Given the description of an element on the screen output the (x, y) to click on. 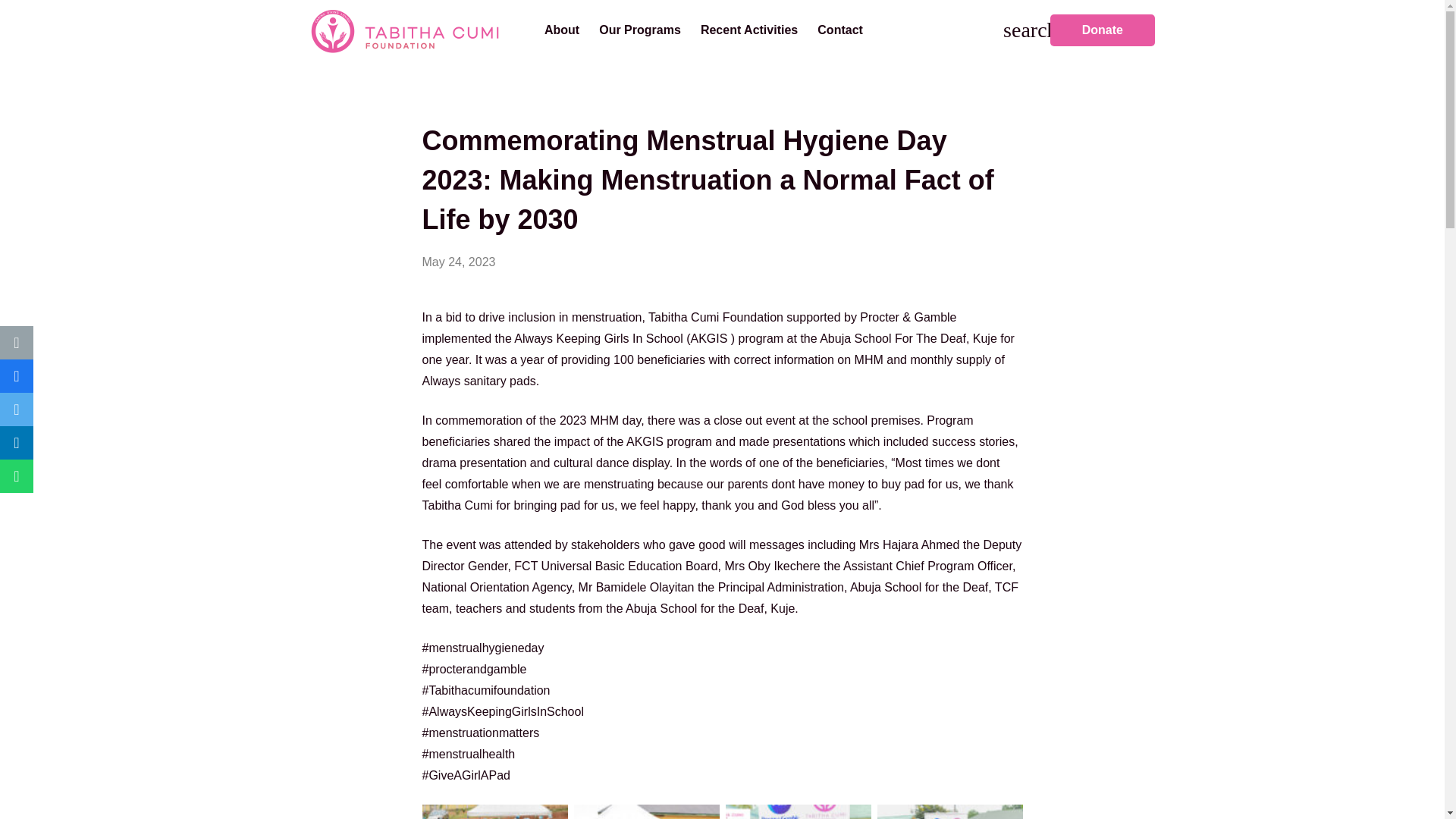
Donate (1101, 29)
Recent Activities (748, 30)
3 (797, 810)
1 (494, 810)
search (1018, 30)
Our Programs (639, 30)
About (561, 30)
Contact (839, 30)
2 (646, 810)
4 (949, 810)
